Given the description of an element on the screen output the (x, y) to click on. 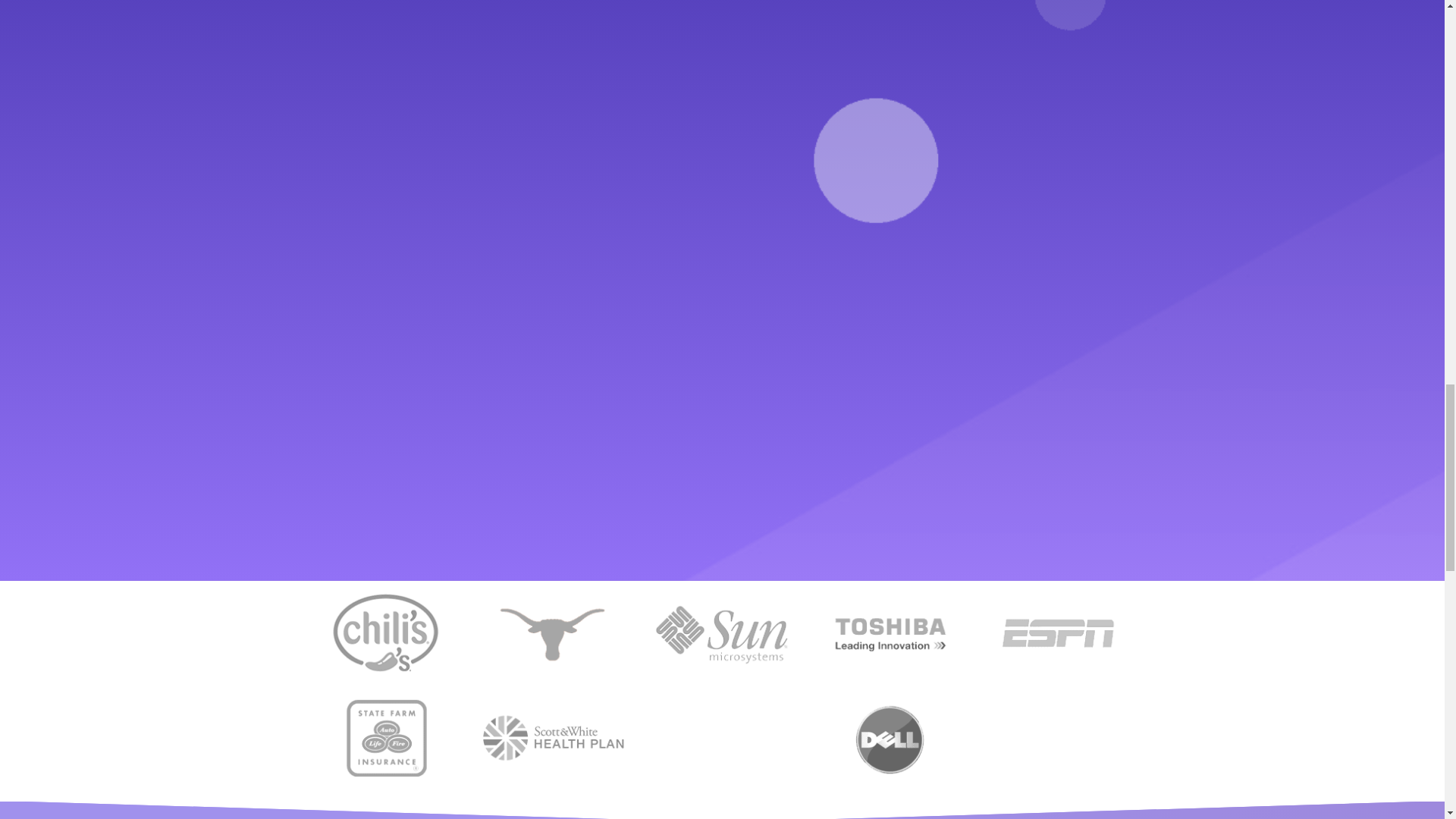
7-1 (890, 737)
swhp-logo (553, 737)
17 (385, 737)
10 (553, 632)
2-1 (890, 632)
espn-1-1 (1059, 632)
sun-microsystems-1 (721, 632)
chilis (385, 632)
